Given the description of an element on the screen output the (x, y) to click on. 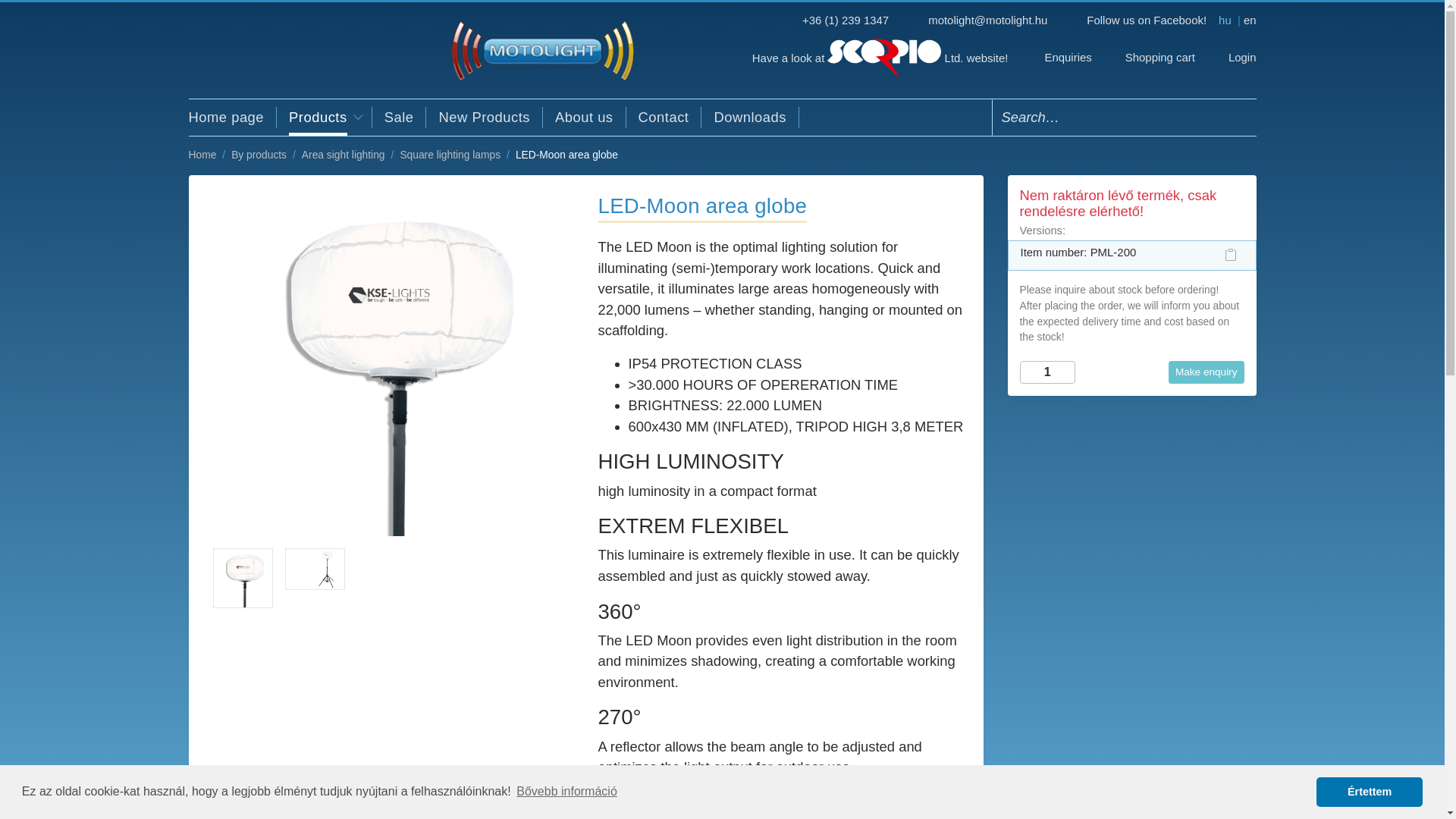
Copy to clipboard (1230, 255)
en (1249, 19)
Enquiries (1057, 57)
Home page (231, 117)
hu (1230, 19)
Follow us on Facebook! (1146, 20)
Have a look at Ltd. website! (880, 58)
Login (1230, 57)
Products (324, 117)
Shopping cart (1149, 57)
